Given the description of an element on the screen output the (x, y) to click on. 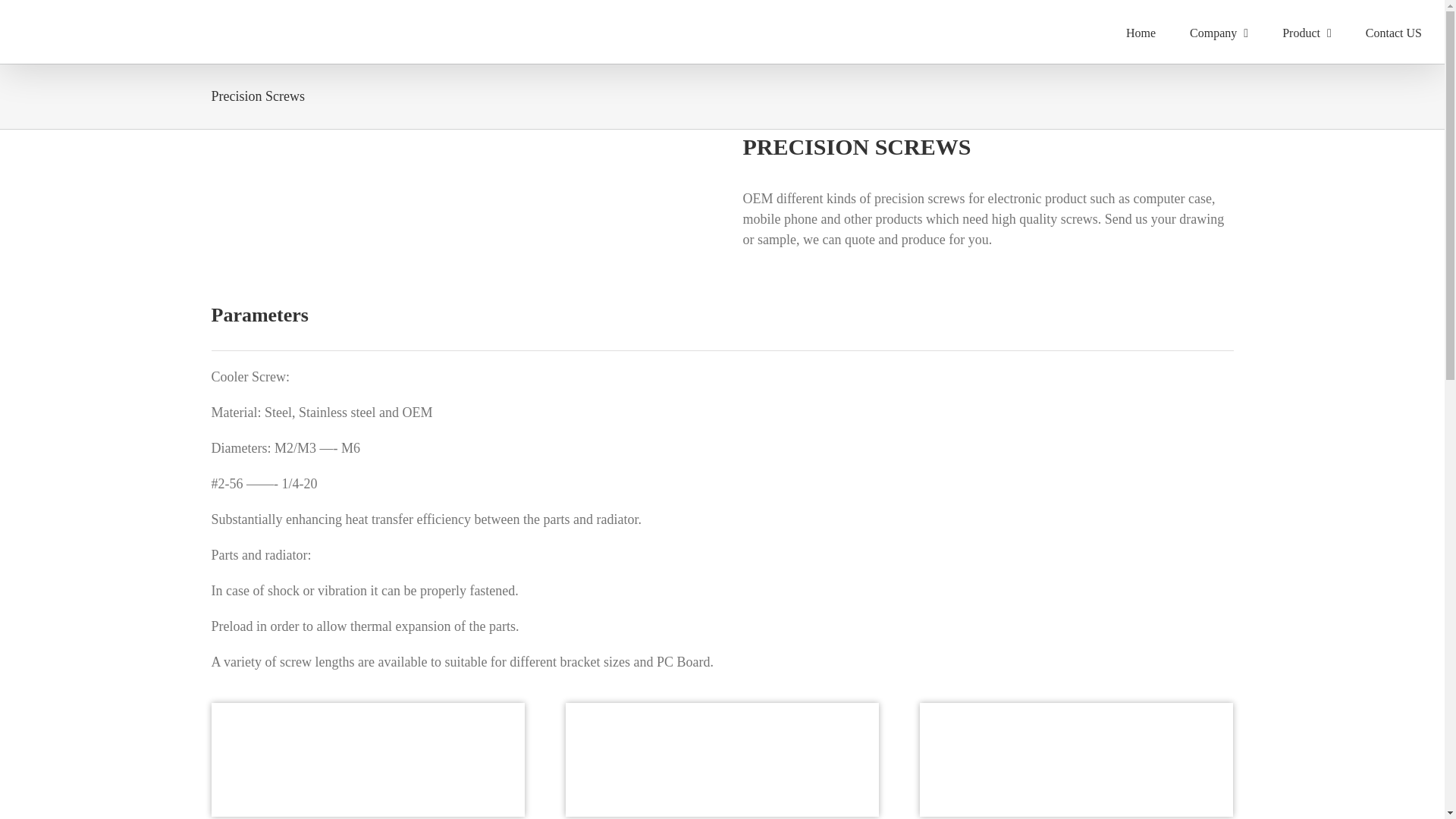
Company (1218, 31)
